Given the description of an element on the screen output the (x, y) to click on. 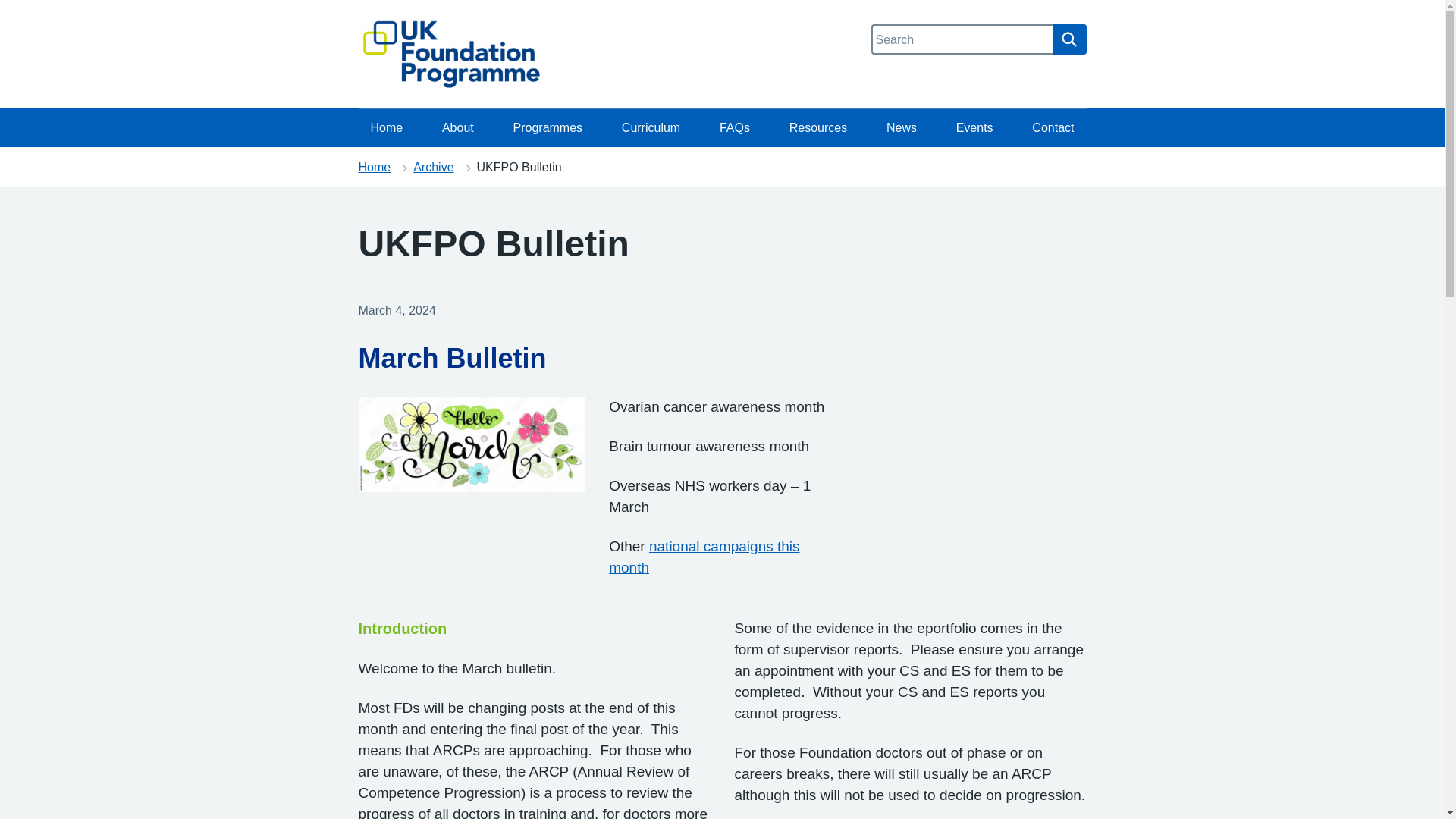
About (457, 127)
News (901, 127)
Home (386, 127)
Contact (1053, 127)
Resources (818, 127)
Curriculum (651, 127)
Programmes (547, 127)
Events (974, 127)
Home (374, 166)
national campaigns this month (703, 556)
